Given the description of an element on the screen output the (x, y) to click on. 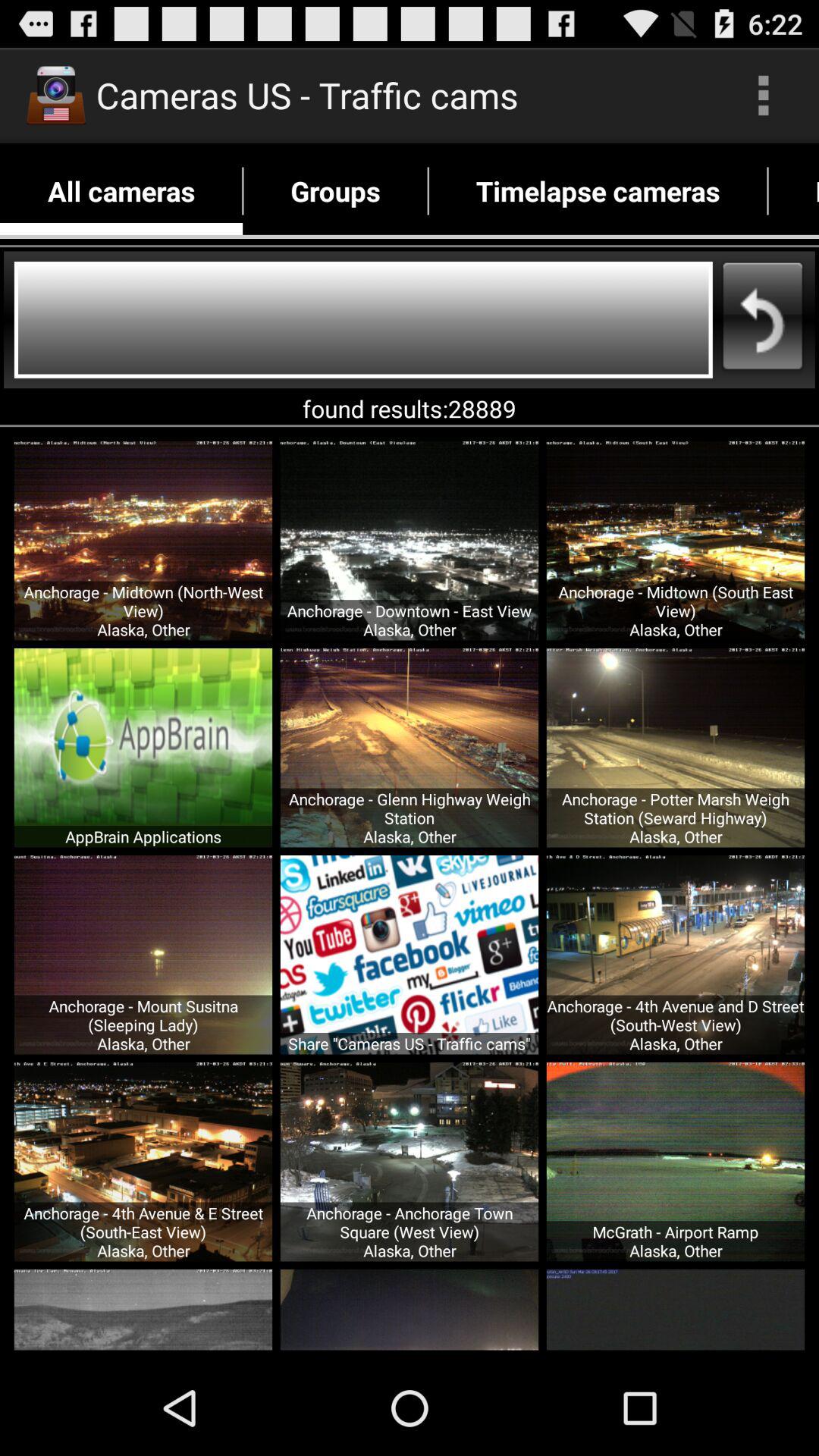
jump to all cameras (121, 190)
